Given the description of an element on the screen output the (x, y) to click on. 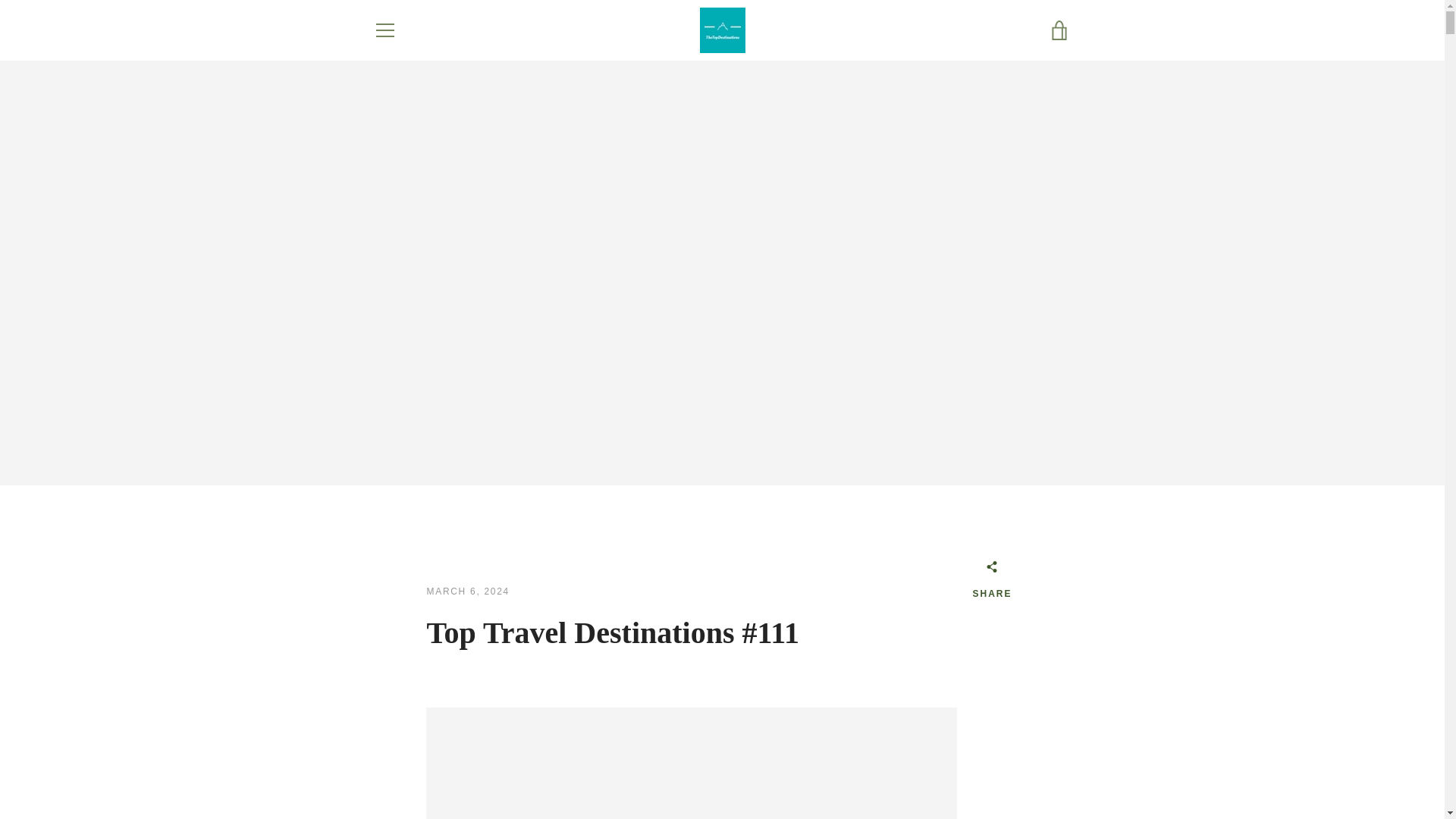
SHARE (991, 582)
MENU (384, 30)
VIEW CART (1059, 30)
